Given the description of an element on the screen output the (x, y) to click on. 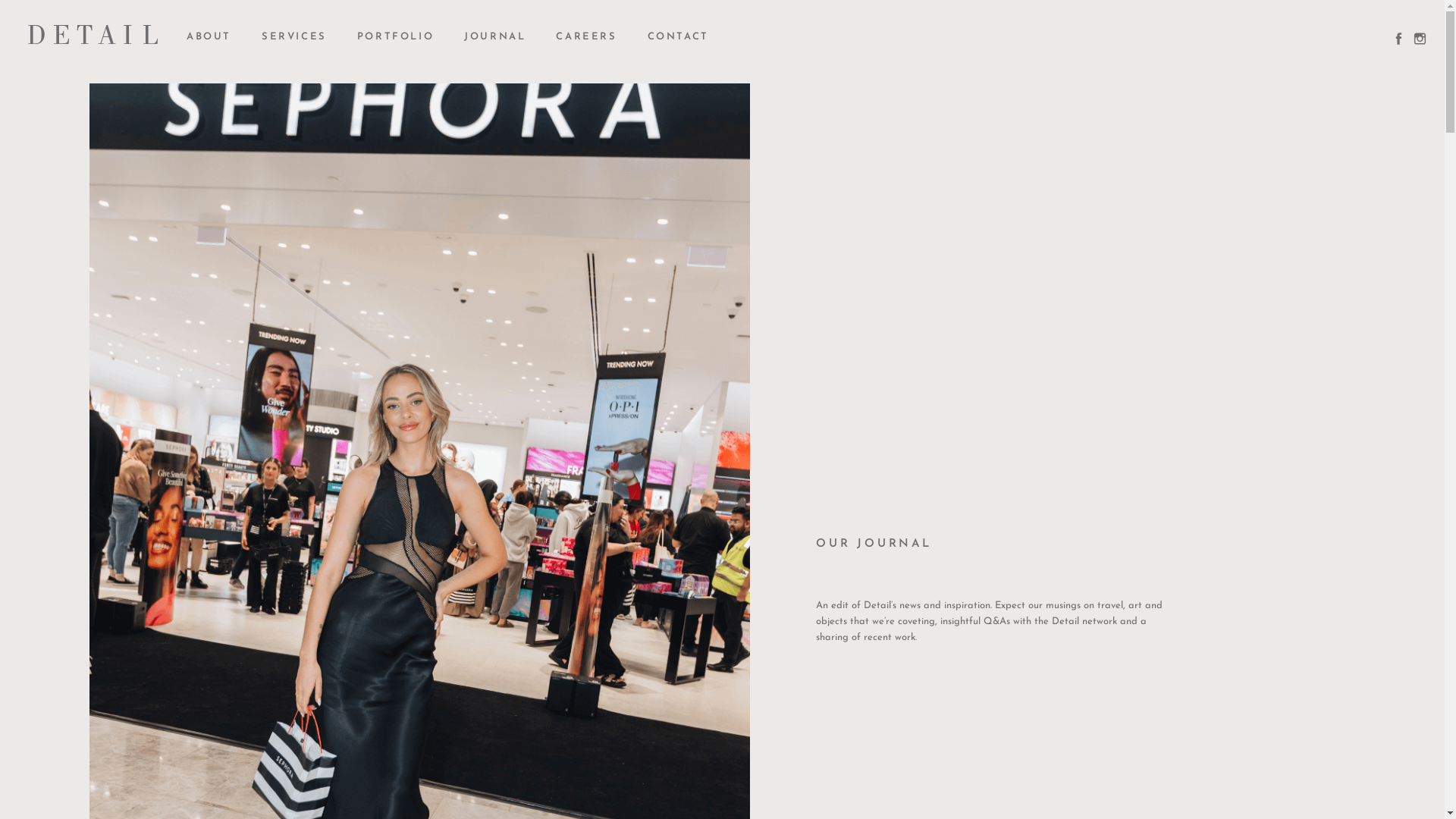
PORTFOLIO Element type: text (395, 36)
CAREERS Element type: text (585, 36)
SERVICES Element type: text (293, 36)
ABOUT Element type: text (208, 36)
CONTACT Element type: text (678, 36)
JOURNAL Element type: text (494, 36)
